Given the description of an element on the screen output the (x, y) to click on. 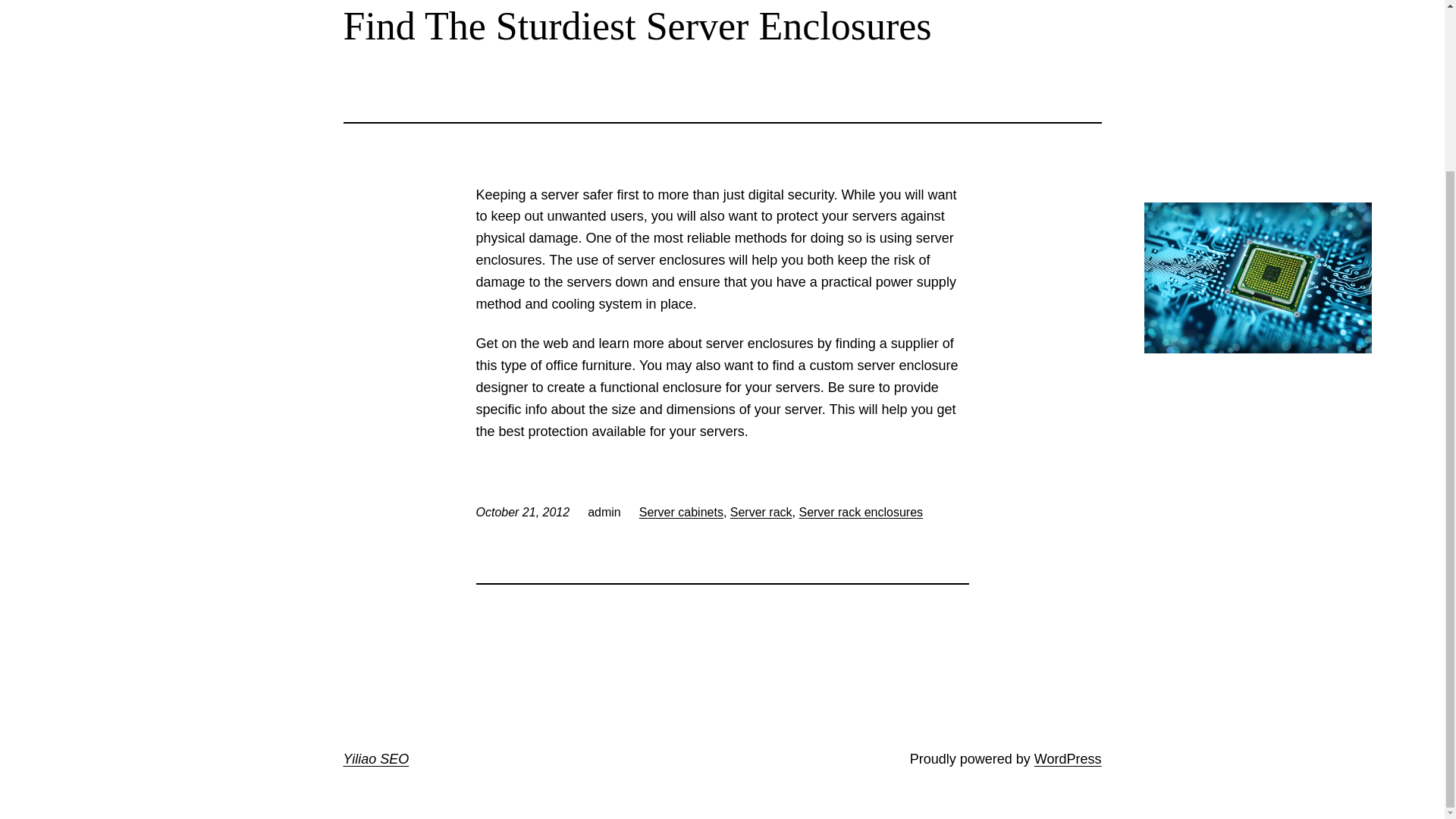
WordPress (1067, 758)
Server cabinets (681, 512)
Yiliao SEO (375, 758)
Server rack enclosures (860, 512)
Server rack (761, 512)
